Given the description of an element on the screen output the (x, y) to click on. 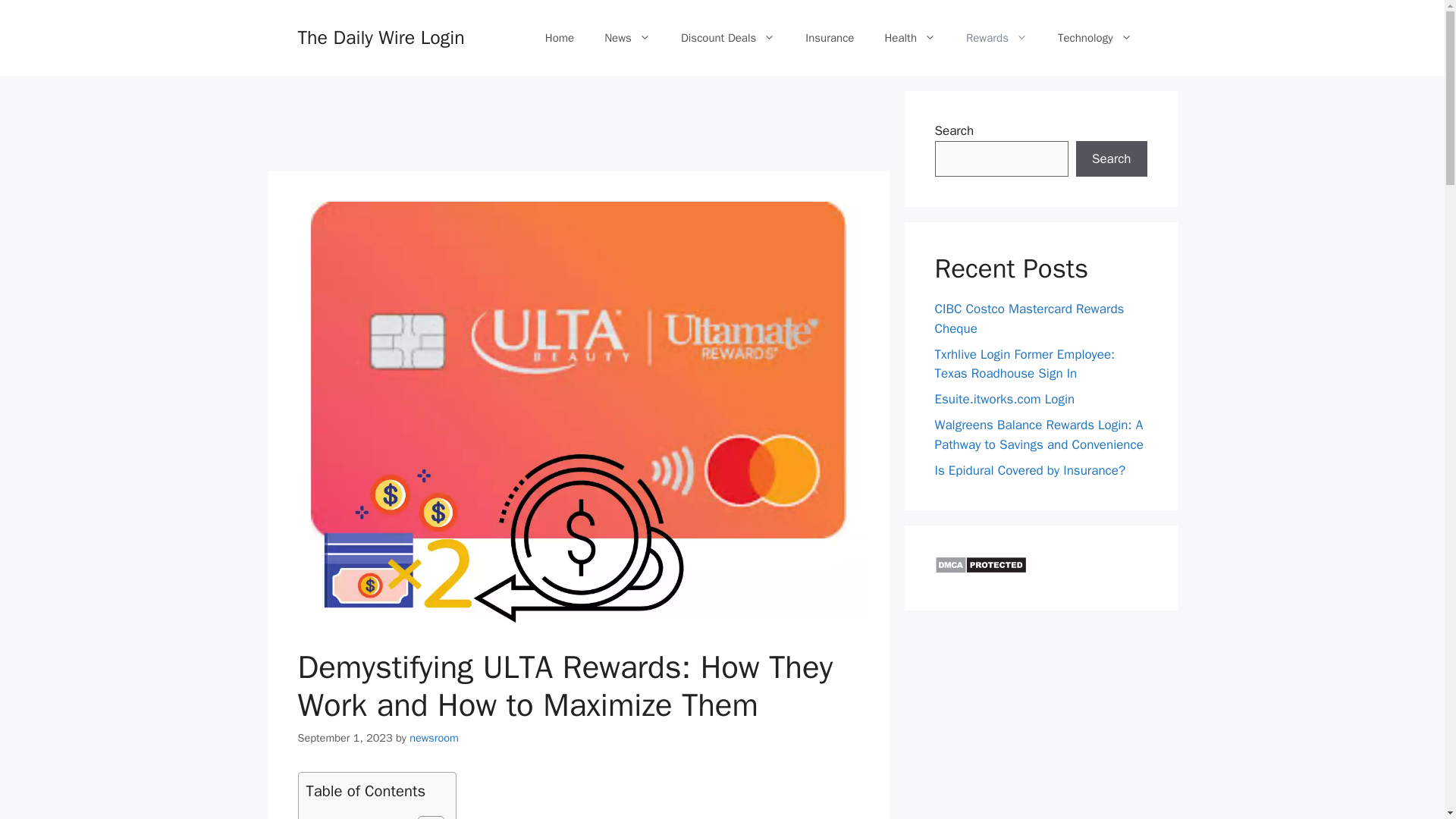
Discount Deals (727, 37)
Insurance (829, 37)
News (627, 37)
newsroom (433, 737)
Technology (1094, 37)
Rewards (996, 37)
View all posts by newsroom (433, 737)
The Daily Wire Login (380, 37)
Home (559, 37)
Health (909, 37)
Advertisement (542, 124)
